Given the description of an element on the screen output the (x, y) to click on. 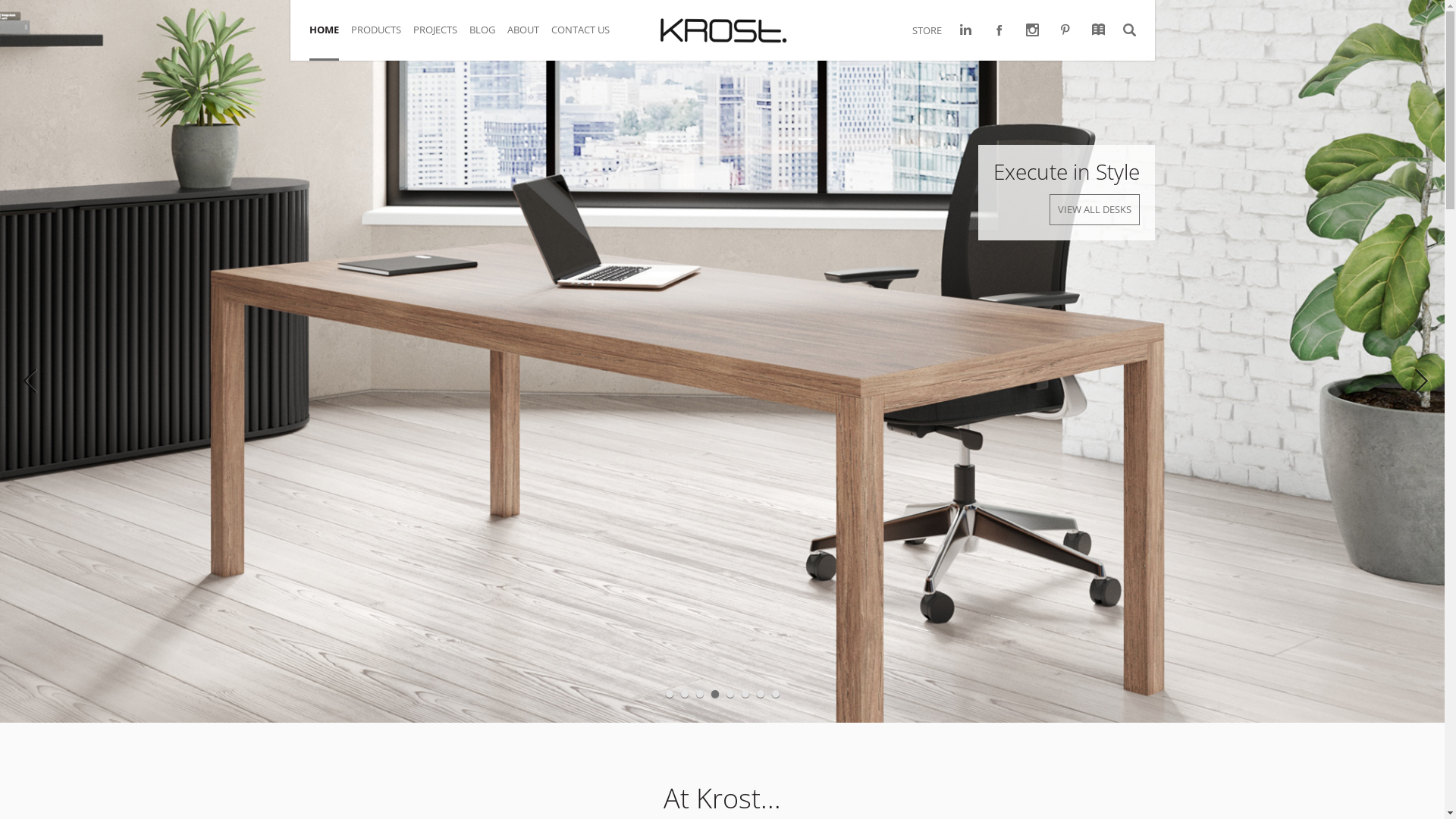
HOME Element type: text (330, 37)
2 Element type: text (684, 693)
4 Element type: text (714, 693)
7 Element type: text (760, 693)
ABOUT Element type: text (528, 37)
6 Element type: text (745, 693)
1 Element type: text (669, 693)
8 Element type: text (775, 693)
CONTACT US Element type: text (585, 37)
5 Element type: text (730, 693)
PROJECTS Element type: text (440, 37)
3 Element type: text (699, 693)
PRODUCTS Element type: text (381, 37)
VIEW ALL DESKS Element type: text (1094, 209)
STORE Element type: text (926, 30)
BLOG Element type: text (487, 37)
